Given the description of an element on the screen output the (x, y) to click on. 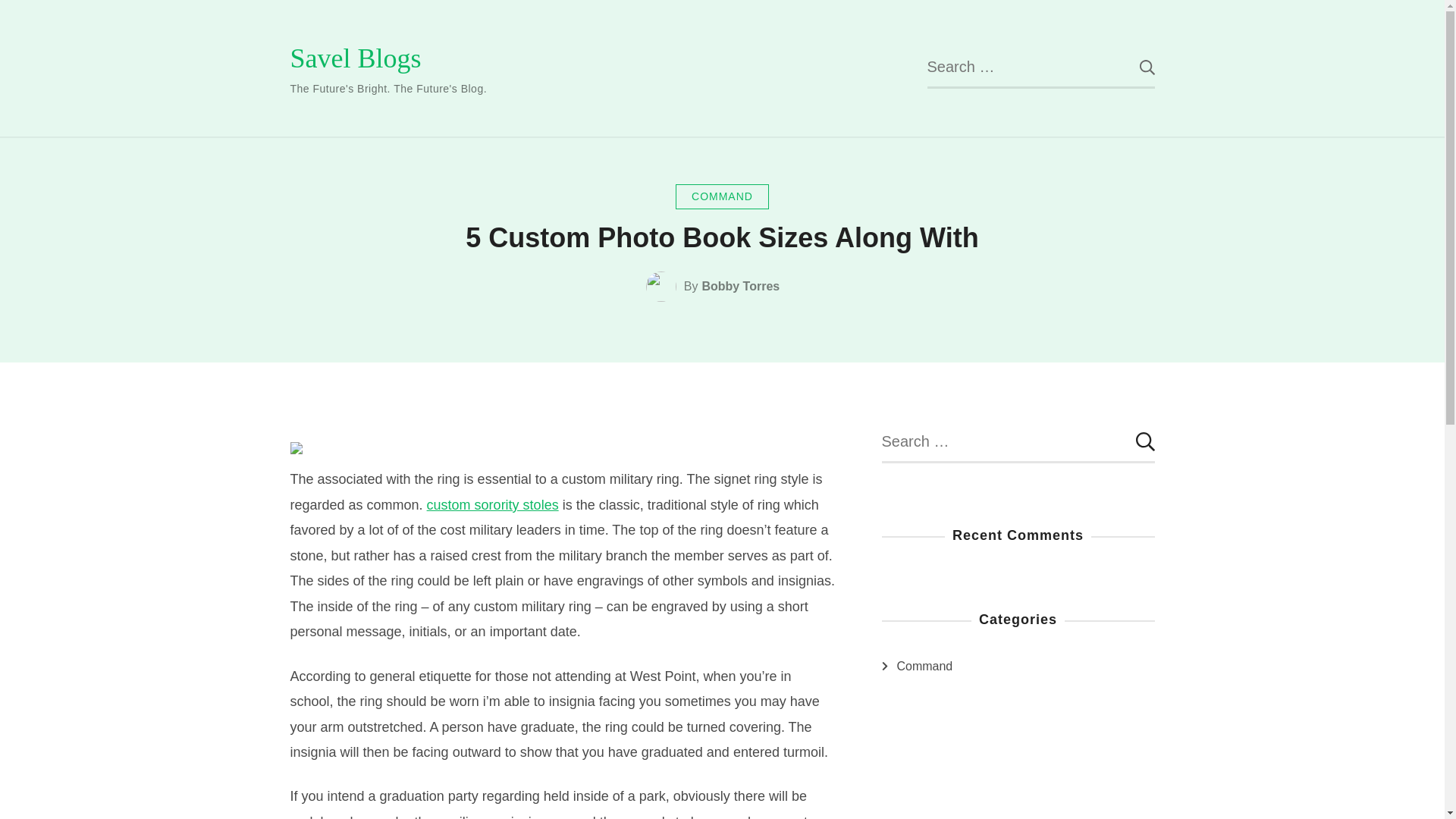
COMMAND (721, 196)
Search (1135, 67)
Bobby Torres (739, 286)
custom sorority stoles (492, 504)
Search (1135, 442)
Search (1135, 67)
Search (1135, 442)
Savel Blogs (354, 58)
Search (1135, 67)
Command (924, 666)
